Given the description of an element on the screen output the (x, y) to click on. 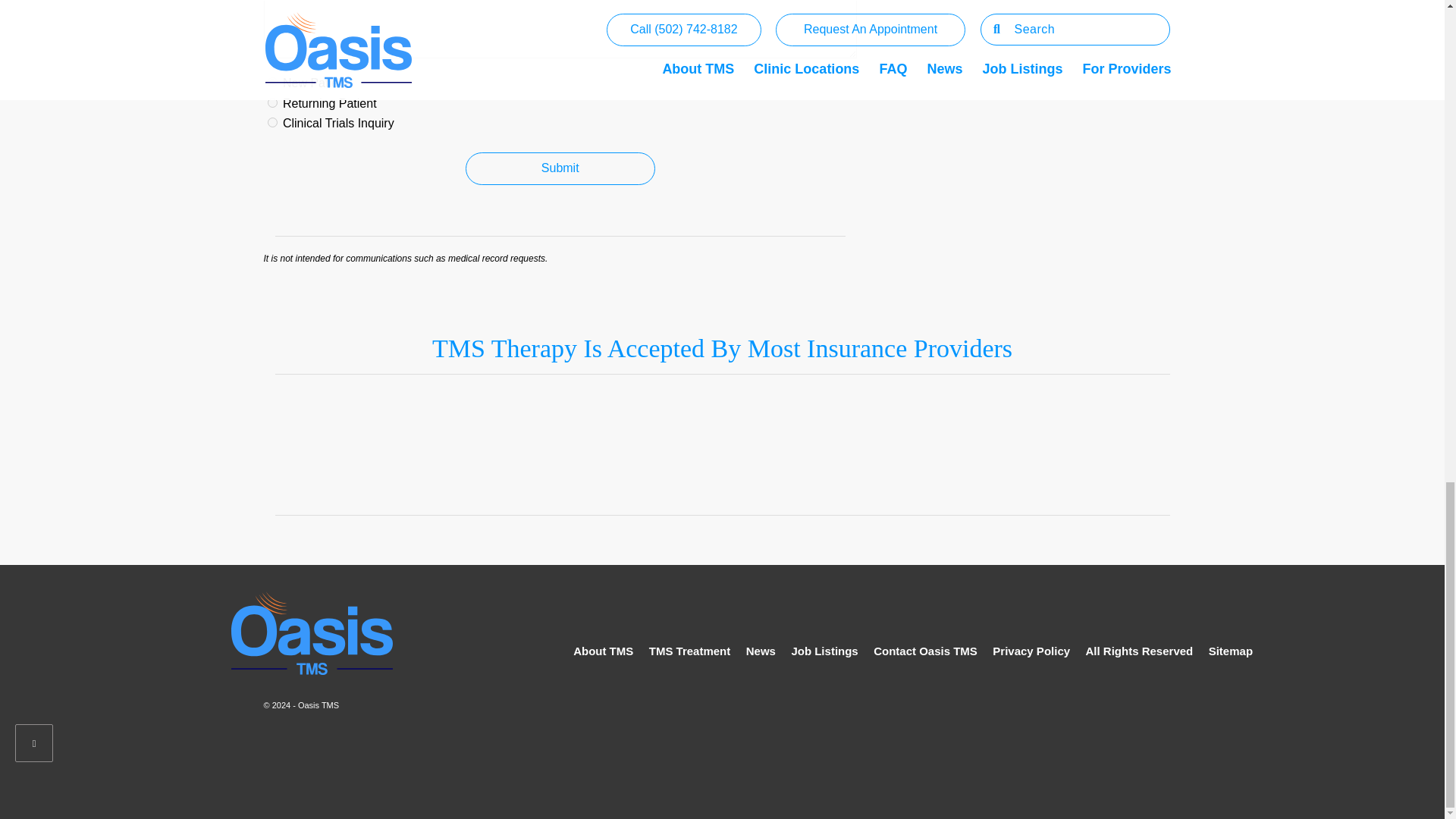
Clinical Trials Inquiry (271, 122)
New Patient (271, 81)
Returning Patient (271, 102)
Oasis-tms-logo (312, 632)
Submit (560, 168)
